Given the description of an element on the screen output the (x, y) to click on. 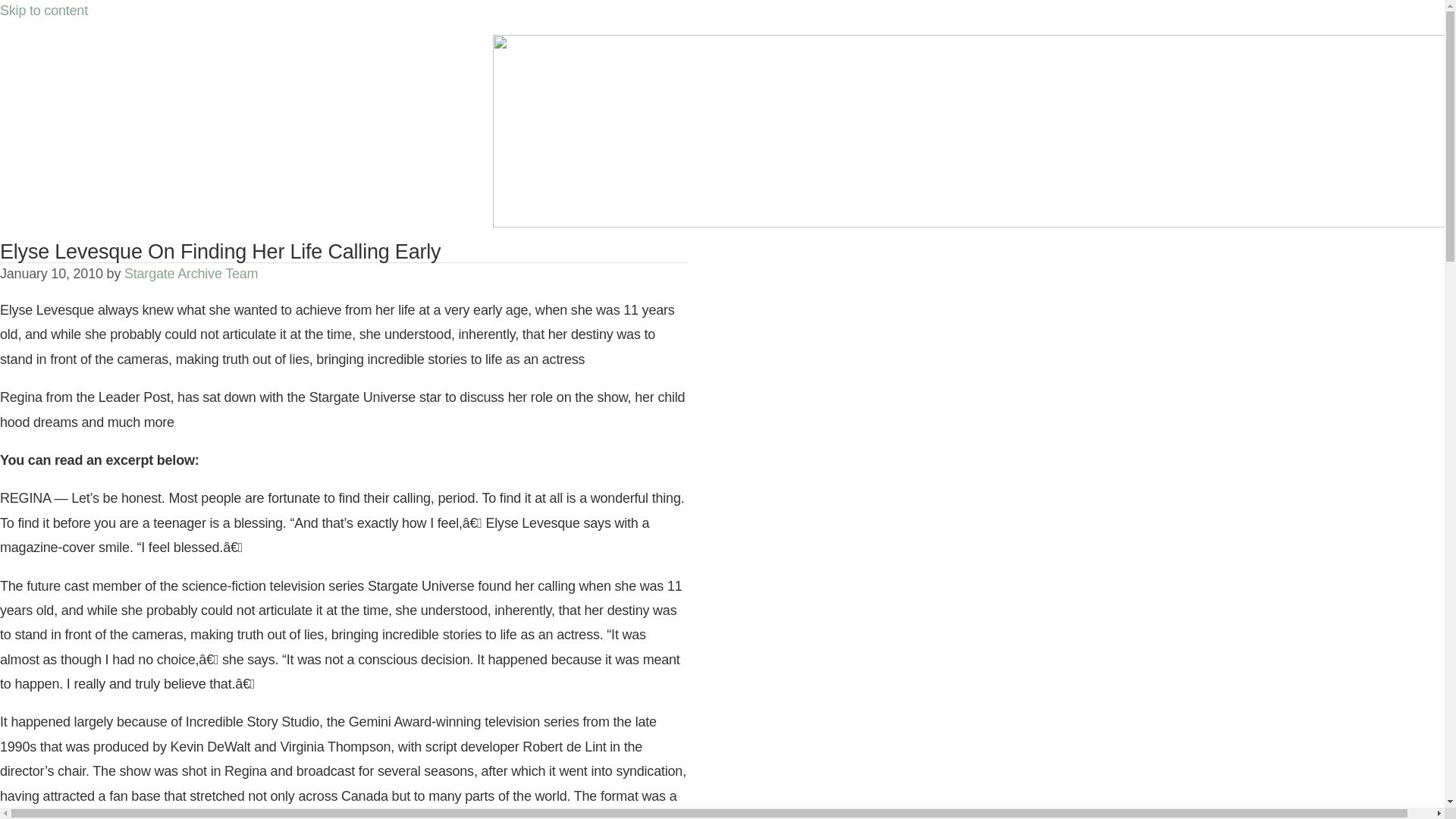
View all posts by Stargate Archive Team (190, 273)
Stargate Archive Team (190, 273)
Skip to content (43, 10)
Skip to content (43, 10)
